Given the description of an element on the screen output the (x, y) to click on. 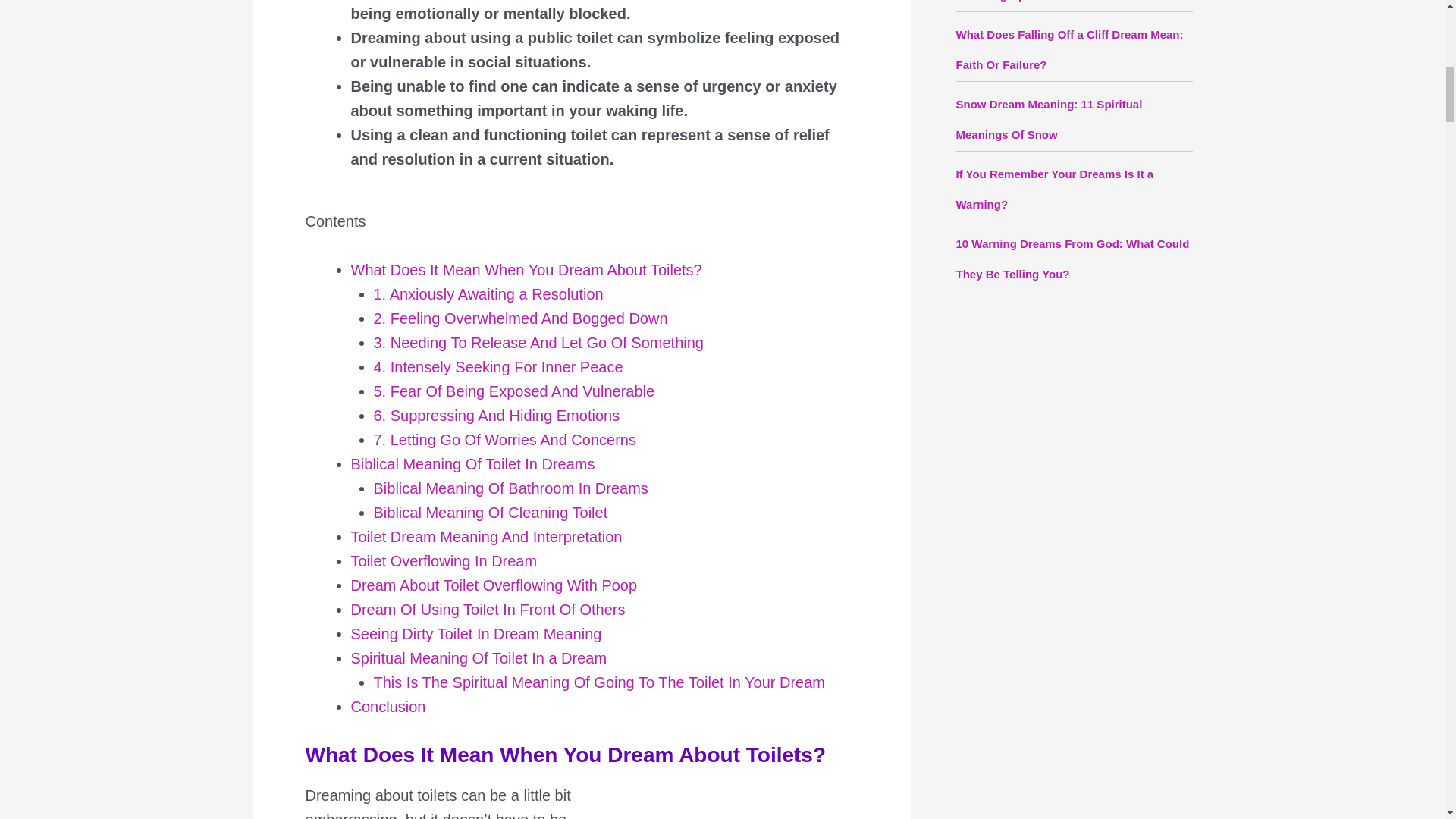
3. Needing To Release And Let Go Of Something (537, 342)
What Does It Mean When You Dream About Toilets? (525, 269)
Toilet Overflowing In Dream (443, 560)
Biblical Meaning Of Toilet In Dreams (472, 463)
Biblical Meaning Of Bathroom In Dreams (509, 487)
Biblical Meaning Of Cleaning Toilet (489, 512)
2. Feeling Overwhelmed And Bogged Down (519, 318)
7. Letting Go Of Worries And Concerns (503, 439)
4. Intensely Seeking For Inner Peace (497, 366)
